Given the description of an element on the screen output the (x, y) to click on. 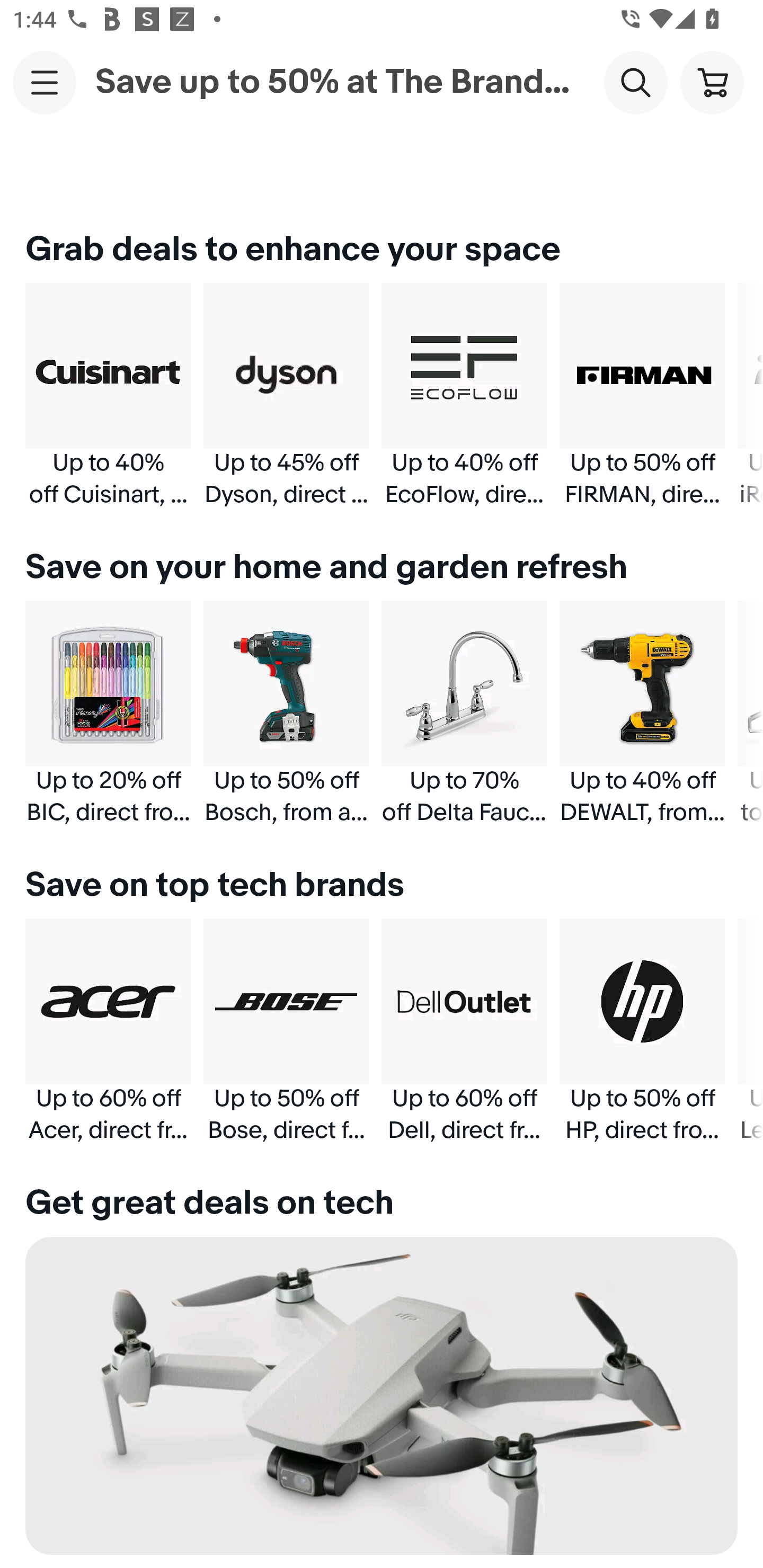
Main navigation, open (44, 82)
Search (635, 81)
Cart button shopping cart (711, 81)
Up to 40% off Cuisinart, direct from the brand (107, 395)
Up to 45% off Dyson, direct from the brand (285, 395)
Up to 40% off EcoFlow, direct from the brand (464, 395)
Up to 50% off FIRMAN, direct from the seller (641, 395)
Up to 20% off BIC, direct from the brand (107, 713)
Up to 50% off Bosch, from an authorized seller (285, 713)
Up to 40% off DEWALT, from an authorized reseller (641, 713)
Up to 60% off Acer, direct from the brand (107, 1031)
Up to 50% off Bose, direct from the brand (285, 1031)
Up to 60% off Dell, direct from the brand (464, 1031)
Up to 50% off HP, direct from the brand (641, 1031)
Up to 40% off DJI (381, 1402)
